Given the description of an element on the screen output the (x, y) to click on. 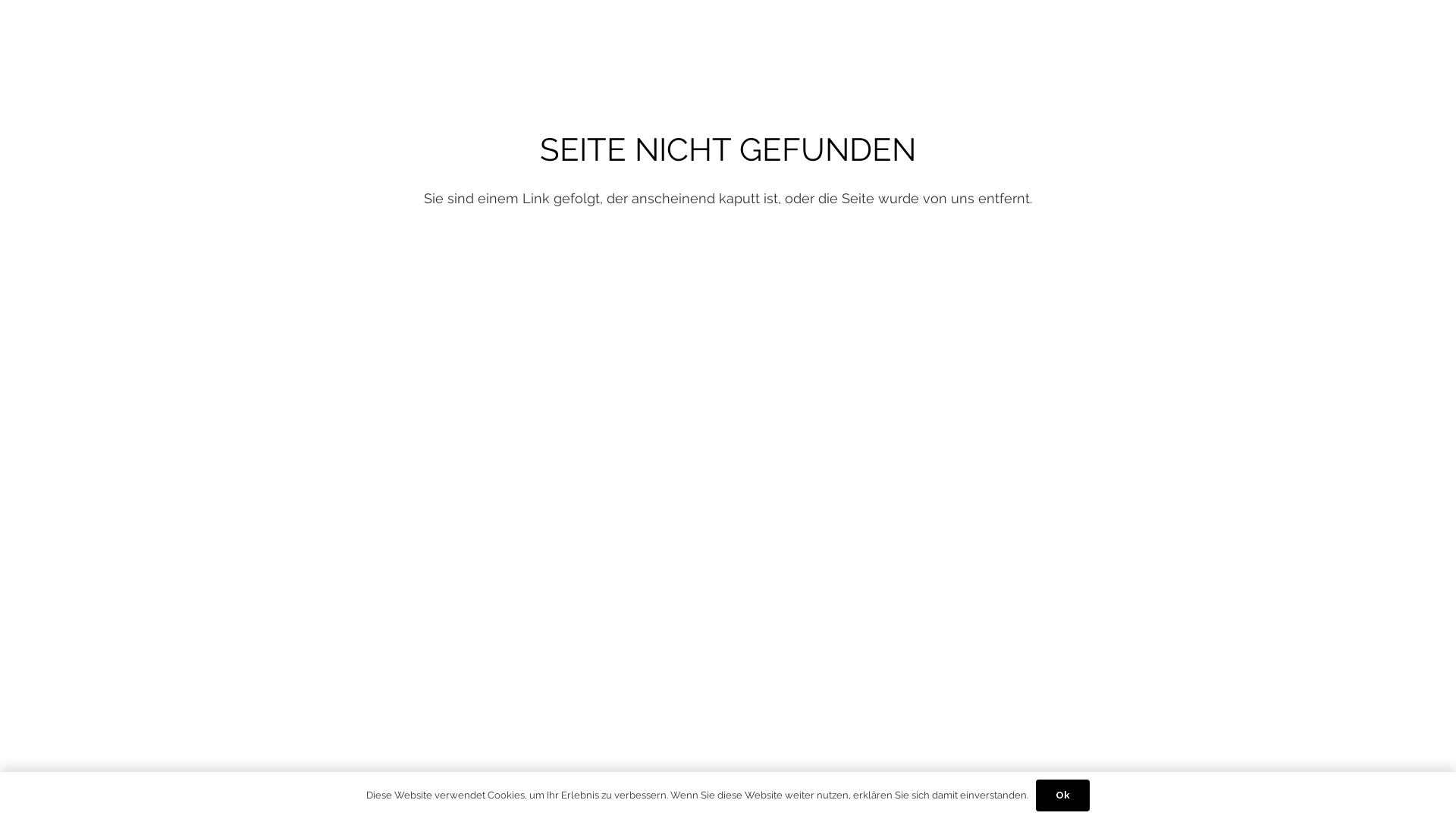
AUFTRAGSARBEITEN Element type: text (1271, 37)
BILDER Element type: text (981, 37)
HOME Element type: text (911, 37)
Impressum Element type: text (834, 780)
NEWS Element type: text (1159, 37)
FABO AG Element type: text (760, 780)
Datenschutz Element type: text (923, 780)
Ok Element type: text (1062, 795)
KONTAKT Element type: text (1392, 37)
